Given the description of an element on the screen output the (x, y) to click on. 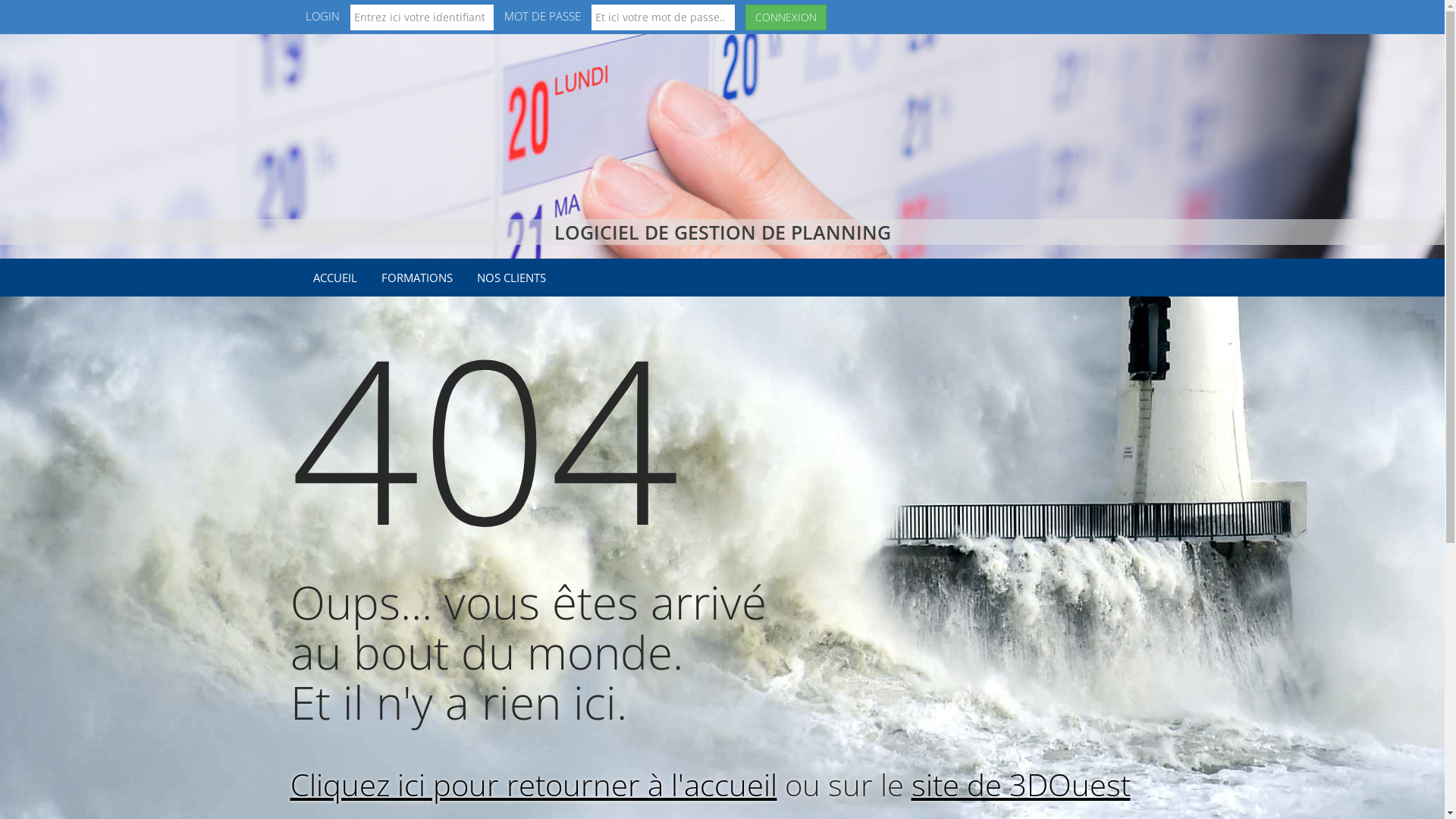
CONNEXION Element type: text (785, 17)
site de 3DOuest Element type: text (1020, 784)
NOS CLIENTS Element type: text (511, 277)
FORMATIONS Element type: text (417, 277)
ACCUEIL Element type: text (334, 277)
